Given the description of an element on the screen output the (x, y) to click on. 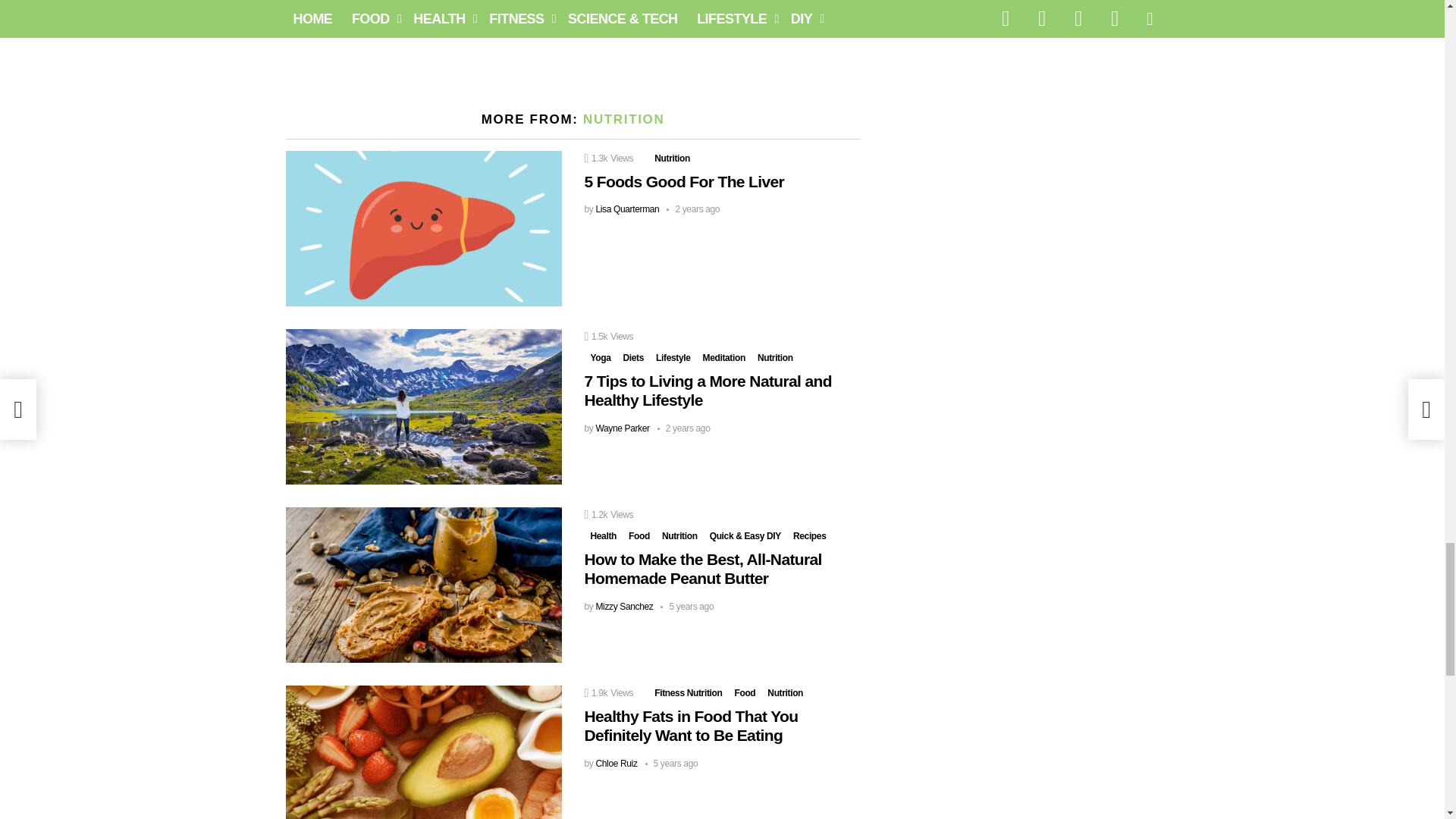
Posts by Lisa Quarterman (627, 208)
5 Foods Good For The Liver (422, 228)
July 12, 2022, 3:00 am (692, 209)
